Given the description of an element on the screen output the (x, y) to click on. 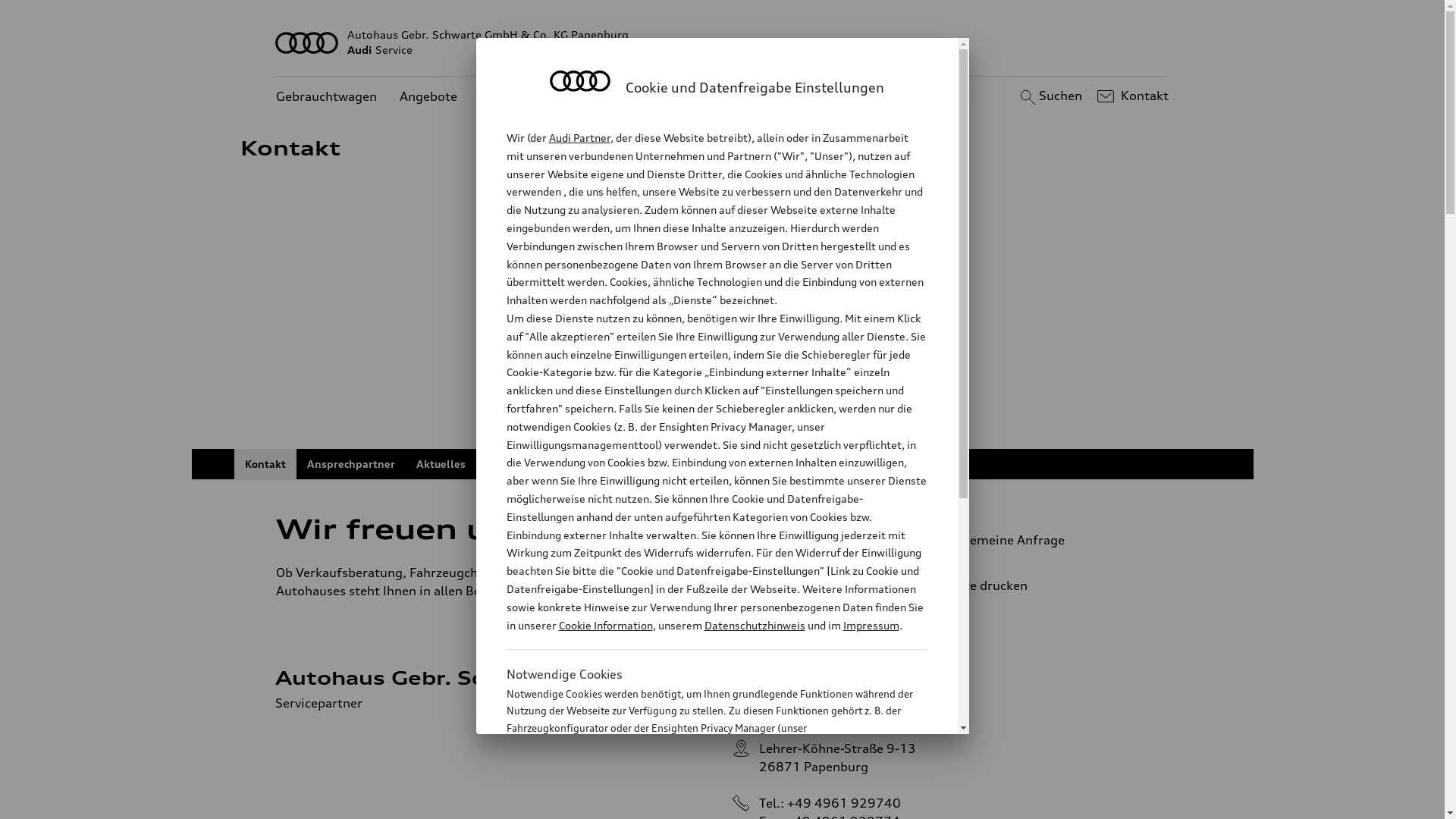
Angebote Element type: text (428, 96)
Cookie Information Element type: text (605, 624)
Kundenservice Element type: text (523, 96)
Kontakt Element type: text (264, 463)
Suchen Element type: text (1049, 96)
Autohaus Gebr. Schwarte GmbH & Co. KG Papenburg
AudiService Element type: text (722, 42)
Veranstaltungen Element type: text (529, 463)
Ansprechpartner Element type: text (349, 463)
Gebrauchtwagen Element type: text (326, 96)
Aktuelles Element type: text (439, 463)
Kontakt Element type: text (1130, 96)
Audi Partner Element type: text (579, 137)
Seite drucken Element type: text (1044, 585)
+49 4961 929740 Element type: text (843, 802)
Allgemeine Anfrage Element type: text (1038, 539)
Cookie Information Element type: text (700, 802)
Impressum Element type: text (871, 624)
Datenschutzhinweis Element type: text (753, 624)
Online Shop Element type: text (625, 463)
